Given the description of an element on the screen output the (x, y) to click on. 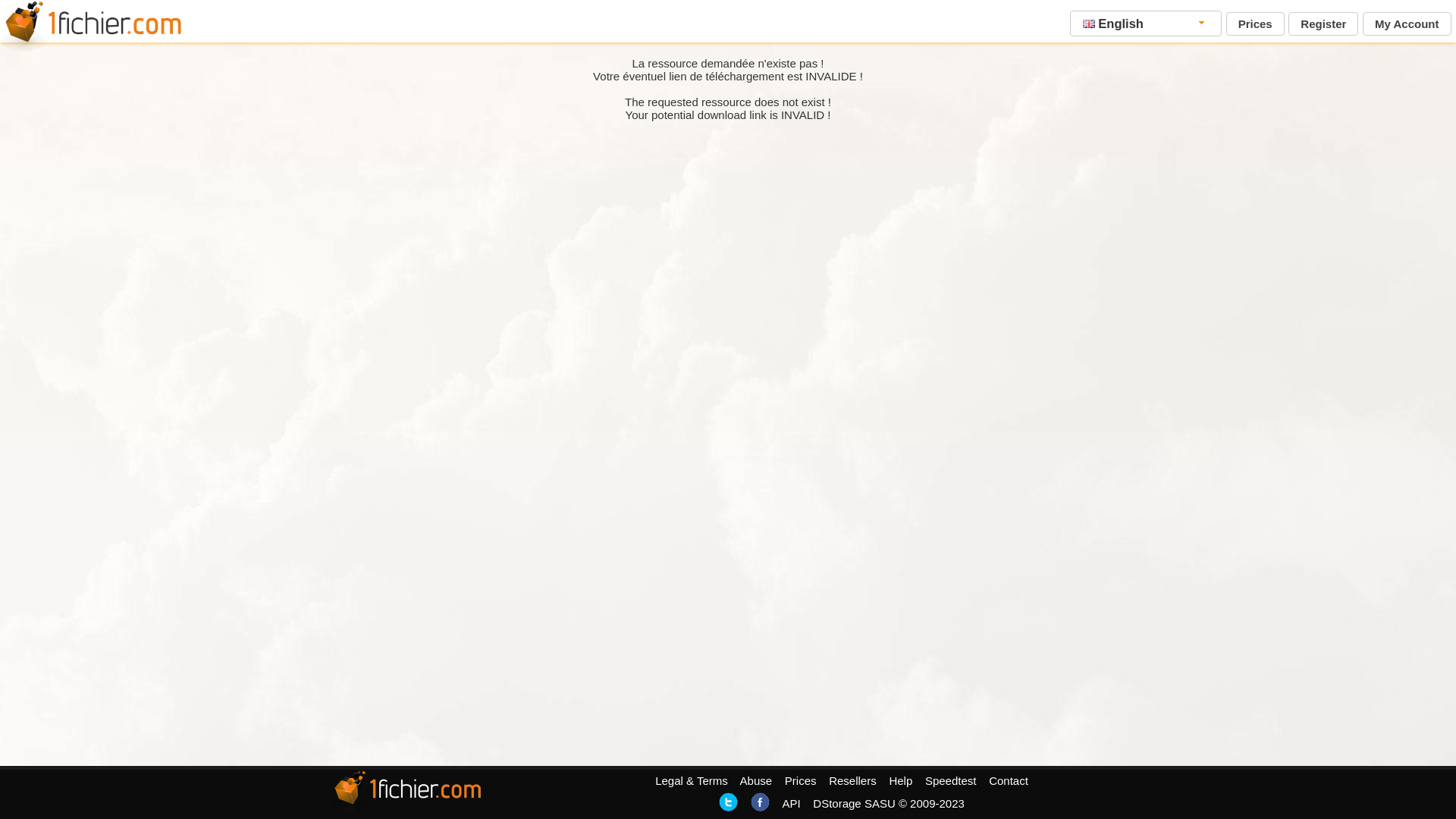
Legal & Terms Element type: text (691, 780)
Speedtest Element type: text (950, 780)
API Element type: text (790, 803)
Prices Element type: text (1255, 23)
Help Element type: text (900, 780)
Resellers Element type: text (852, 780)
My Account Element type: text (1406, 23)
Prices Element type: text (800, 780)
Abuse Element type: text (756, 780)
Contact Element type: text (1008, 780)
Register Element type: text (1323, 23)
